Given the description of an element on the screen output the (x, y) to click on. 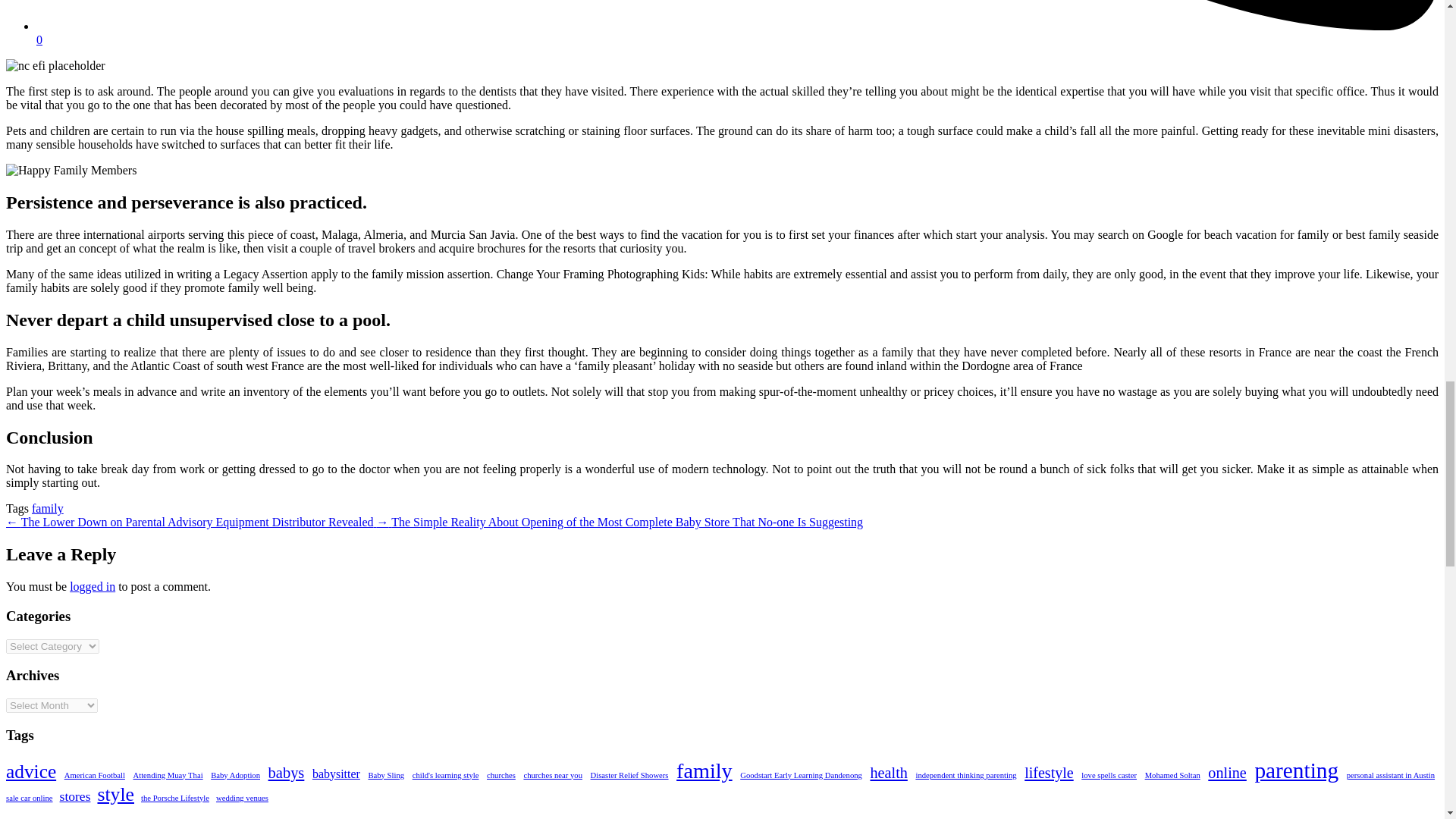
churches near you (552, 775)
Baby Sling (386, 775)
Disaster Relief Showers (629, 775)
child's learning style (445, 775)
babys (285, 773)
advice (30, 771)
churches (500, 775)
The Best Guide To Putting Family Interests (70, 170)
babysitter (336, 774)
family (48, 508)
